Given the description of an element on the screen output the (x, y) to click on. 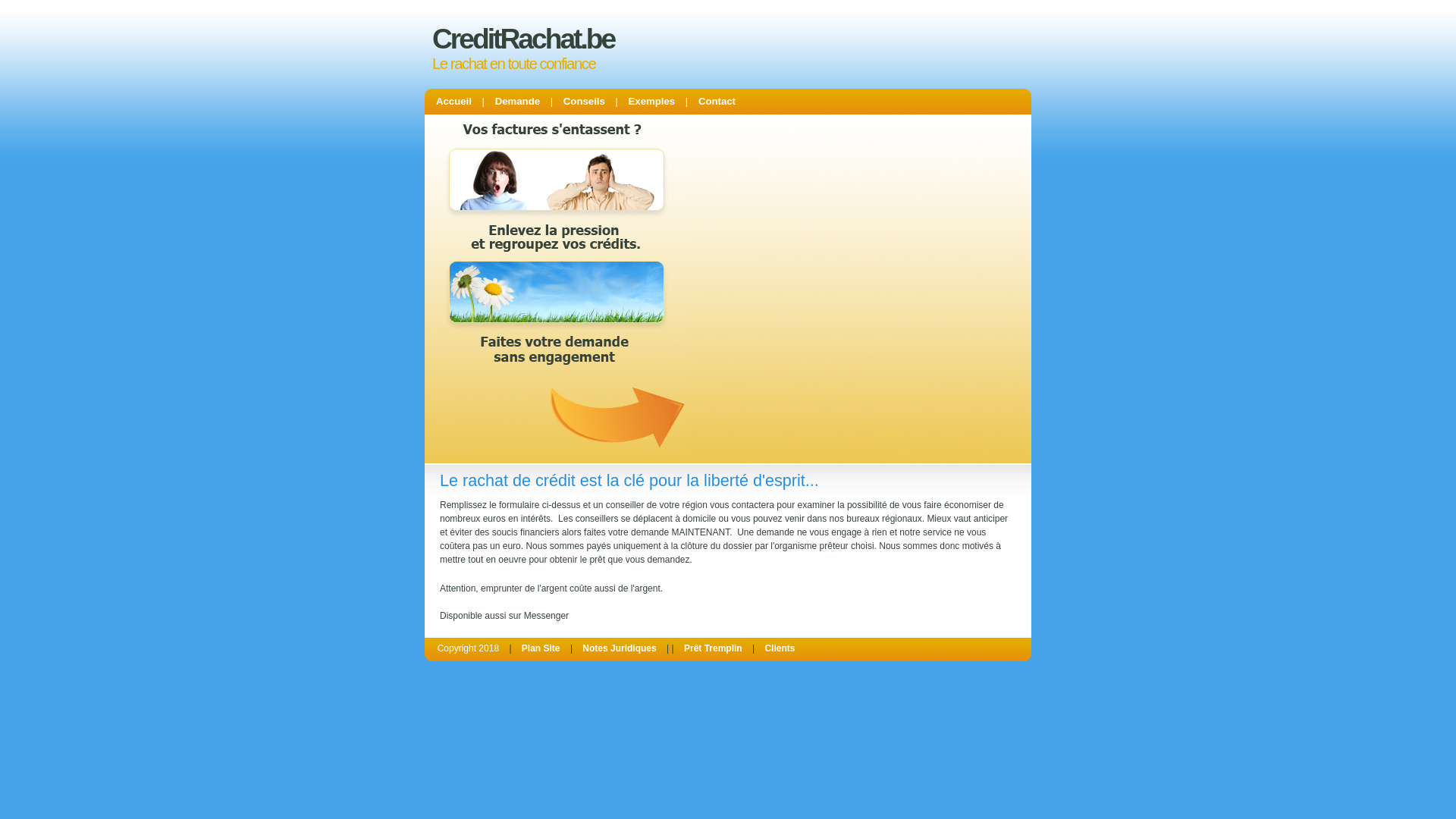
Exemples Element type: text (652, 100)
Clients Element type: text (779, 648)
Contact Element type: text (716, 100)
Plan Site Element type: text (540, 648)
Demande Element type: text (517, 100)
Conseils Element type: text (583, 100)
Accueil Element type: text (453, 100)
Notes Juridiques Element type: text (618, 648)
